Given the description of an element on the screen output the (x, y) to click on. 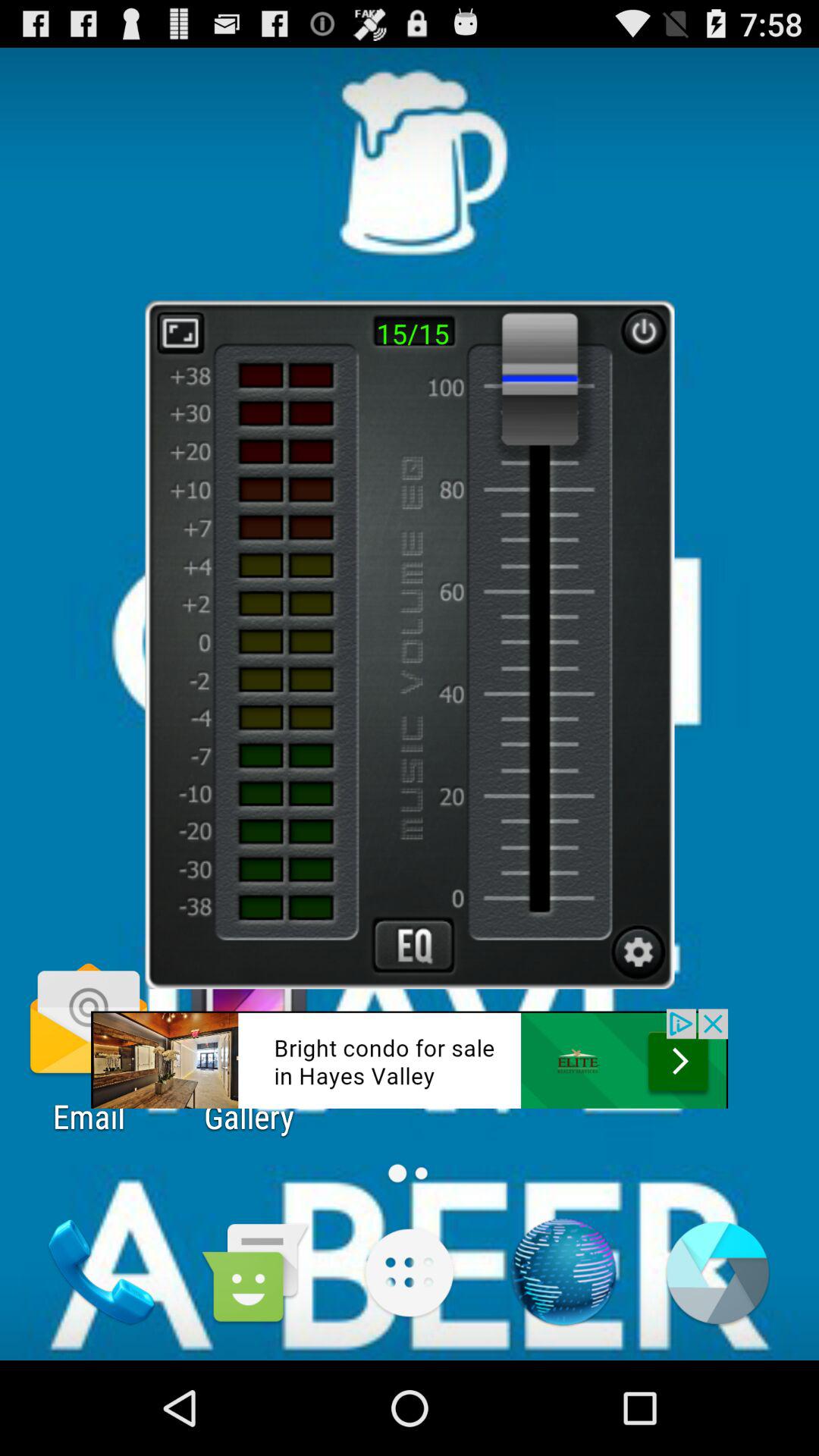
pause button (643, 331)
